Given the description of an element on the screen output the (x, y) to click on. 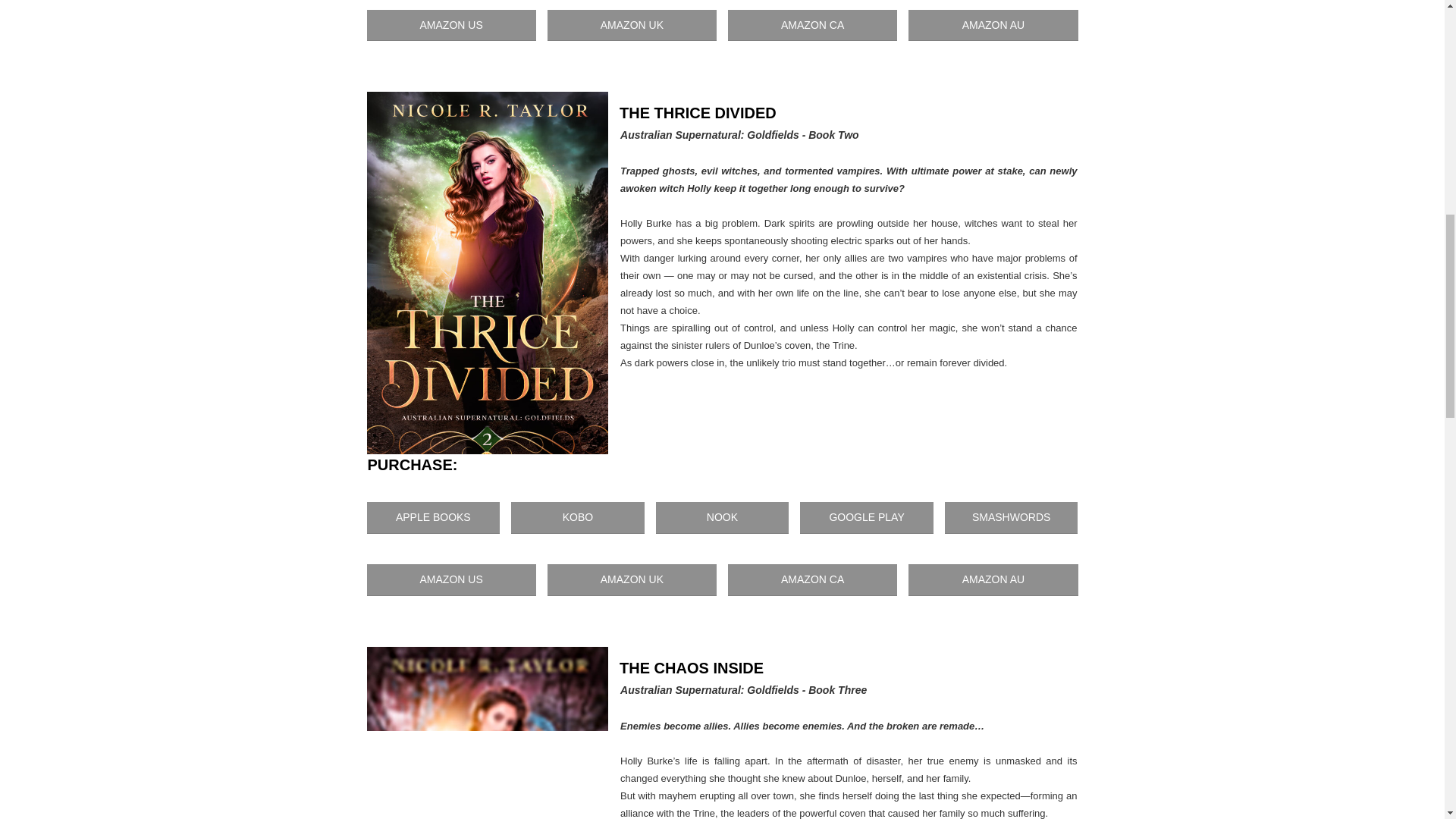
GOOGLE PLAY (866, 517)
AMAZON US (450, 25)
AMAZON AU (992, 25)
KOBO (578, 517)
AMAZON AU (992, 580)
AMAZON CA (812, 580)
3 The Chaos Inside (487, 733)
AMAZON UK (631, 580)
APPLE BOOKS (433, 517)
SMASHWORDS (1011, 517)
